Given the description of an element on the screen output the (x, y) to click on. 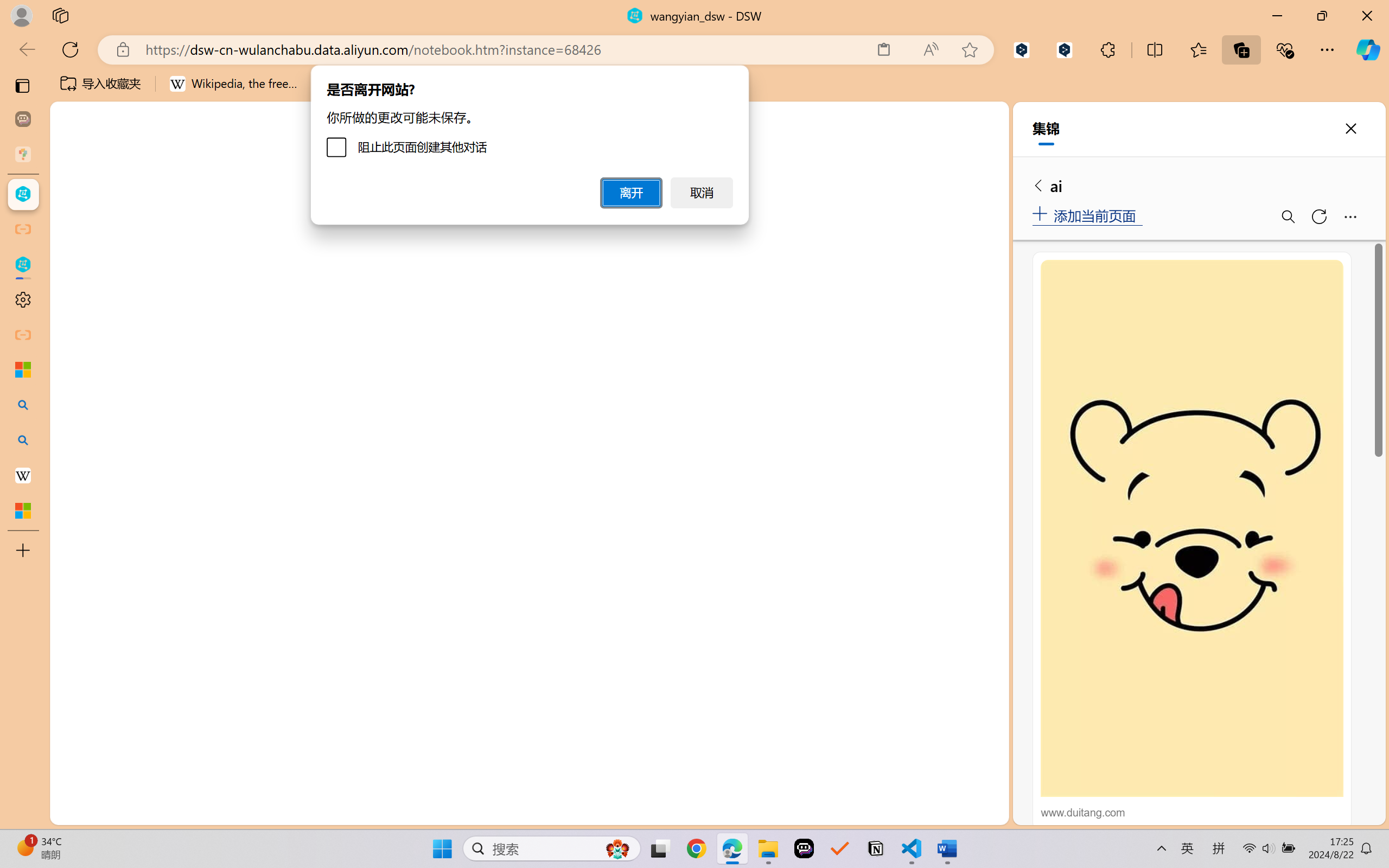
Toggle Secondary Side Bar (Ctrl+Alt+B) (969, 159)
Toggle Panel (Ctrl+J) (944, 159)
Forwarded Ports: 36301, 47065, 38781, 45817, 50331 (167, 812)
Restore Panel Size (959, 193)
Copilot (Ctrl+Shift+.) (1368, 49)
Manage (73, 755)
remote (66, 812)
copilot-notconnected, Copilot error (click for details) (955, 812)
Class: actions-container (974, 194)
